Given the description of an element on the screen output the (x, y) to click on. 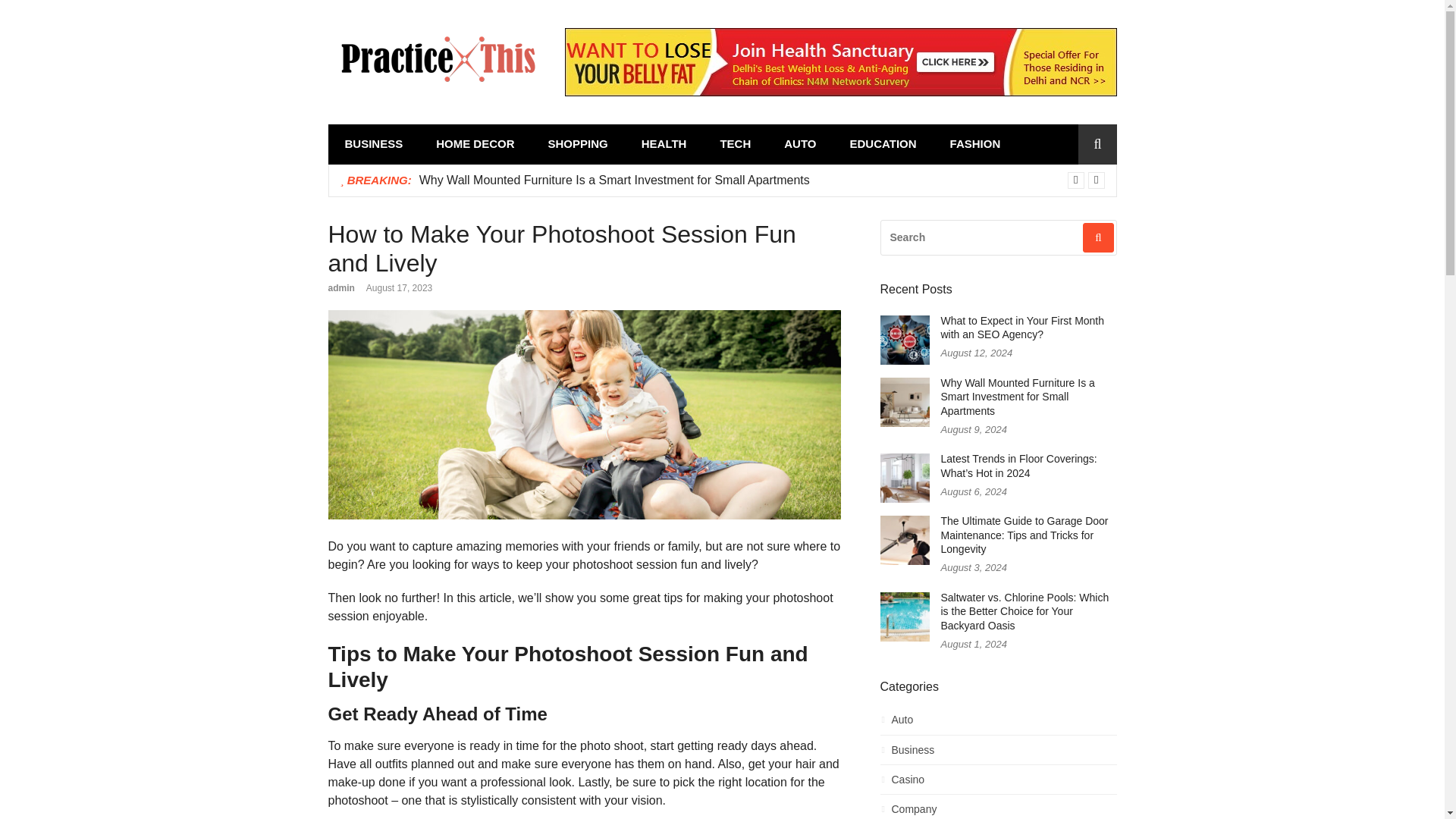
TECH (735, 144)
What to Expect in Your First Month with an SEO Agency? (1021, 327)
admin (340, 287)
FASHION (975, 144)
AUTO (799, 144)
BUSINESS (373, 144)
HEALTH (663, 144)
